Given the description of an element on the screen output the (x, y) to click on. 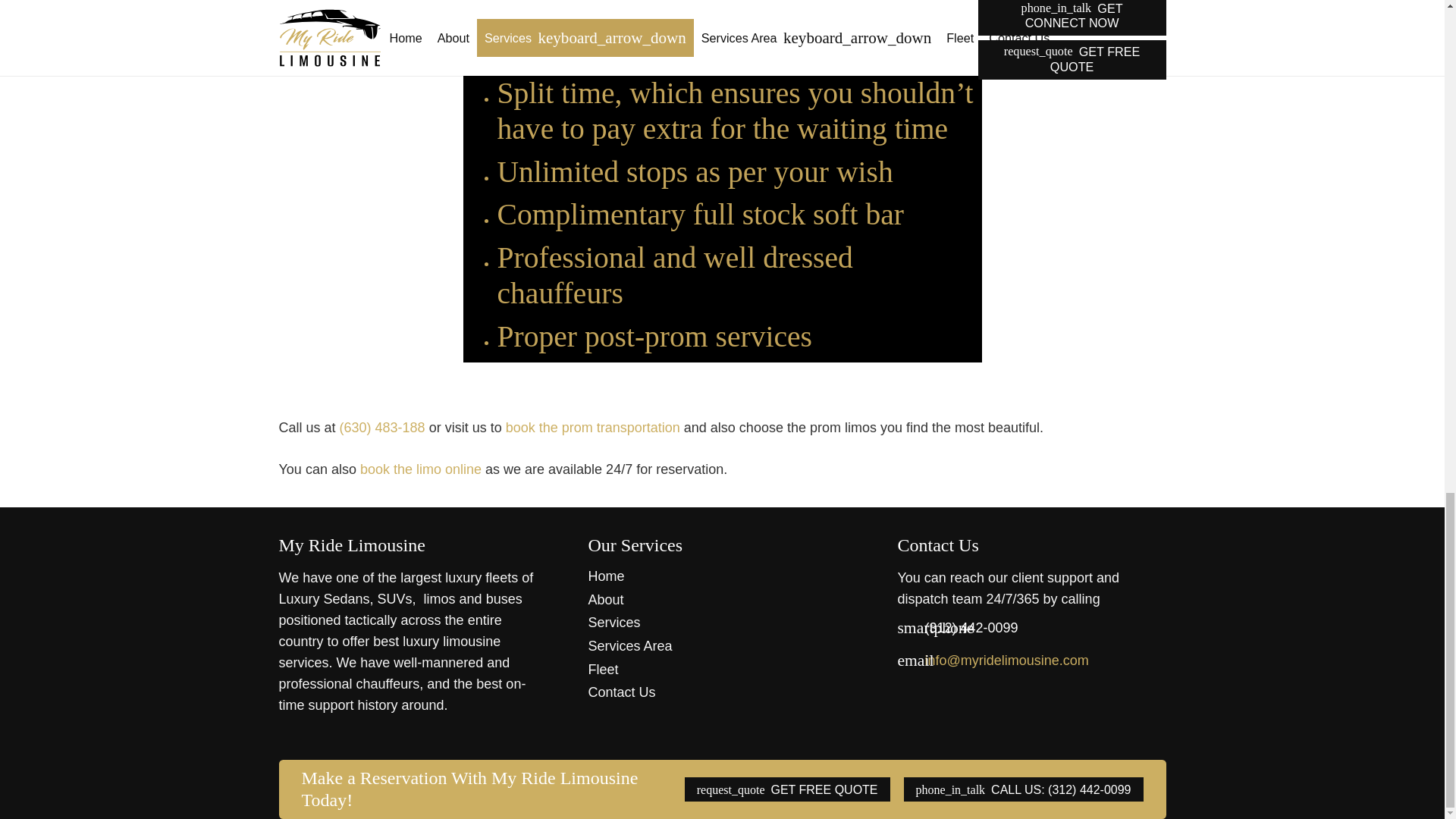
book the limo online (420, 468)
About (605, 599)
Fleet (602, 669)
Services Area (629, 645)
Services (614, 622)
Home (606, 575)
book the prom transportation (592, 427)
Contact Us (621, 692)
